Given the description of an element on the screen output the (x, y) to click on. 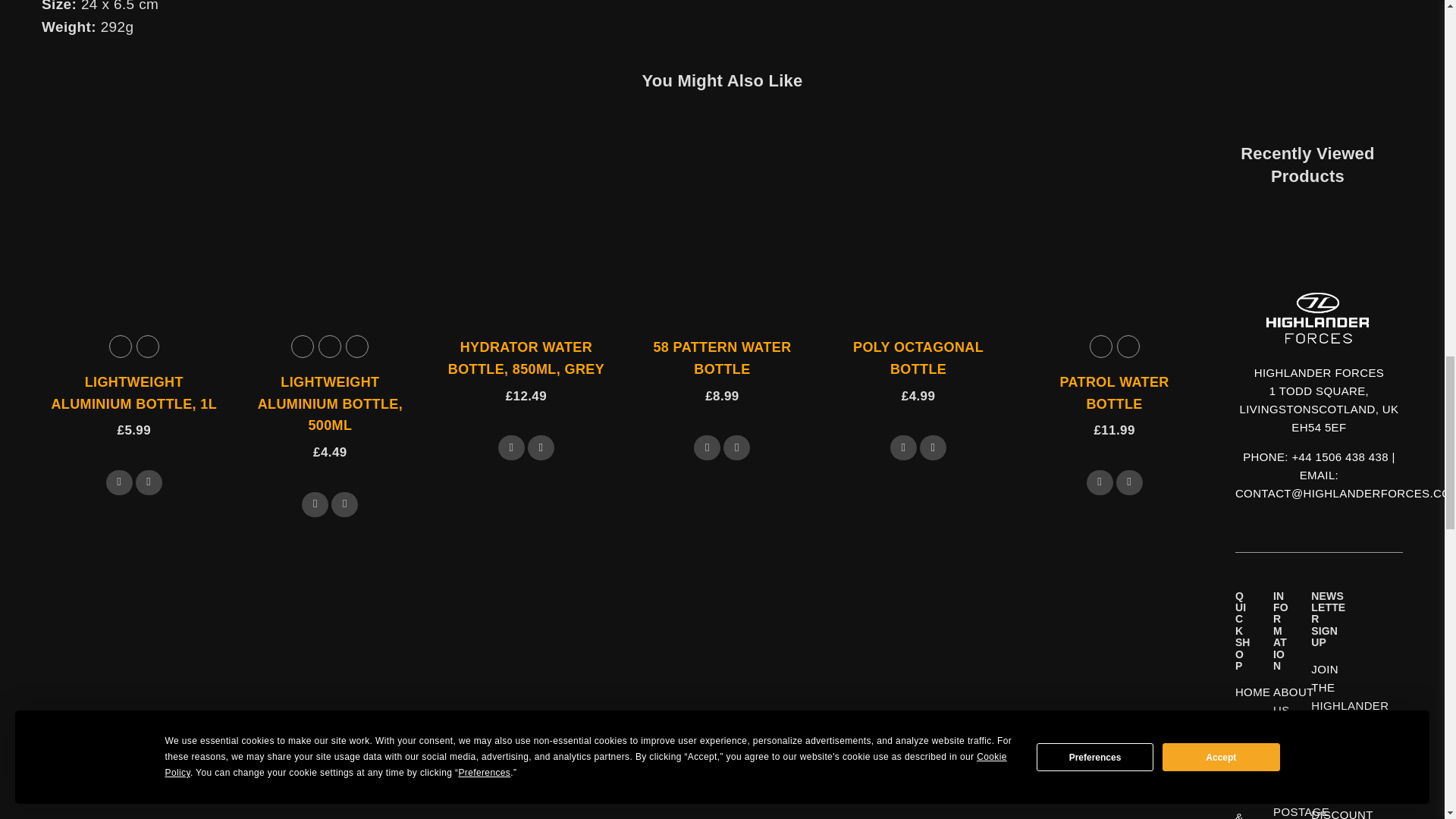
Olive (302, 345)
Olive (120, 345)
Black (329, 345)
Black (147, 345)
